Given the description of an element on the screen output the (x, y) to click on. 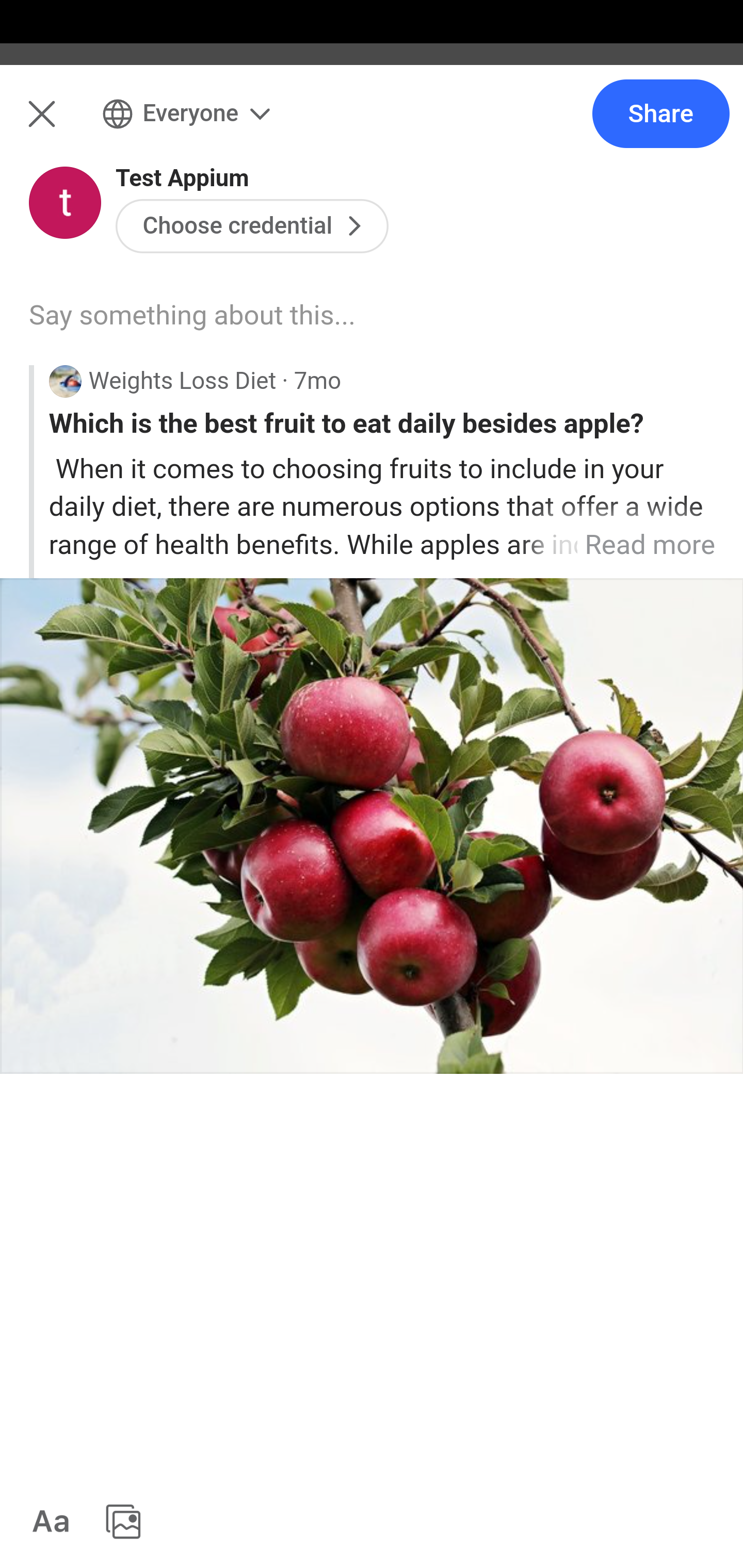
Me (64, 125)
What do you want to ask or share? (408, 216)
Profile photo for Weights Loss Diet (50, 374)
